Given the description of an element on the screen output the (x, y) to click on. 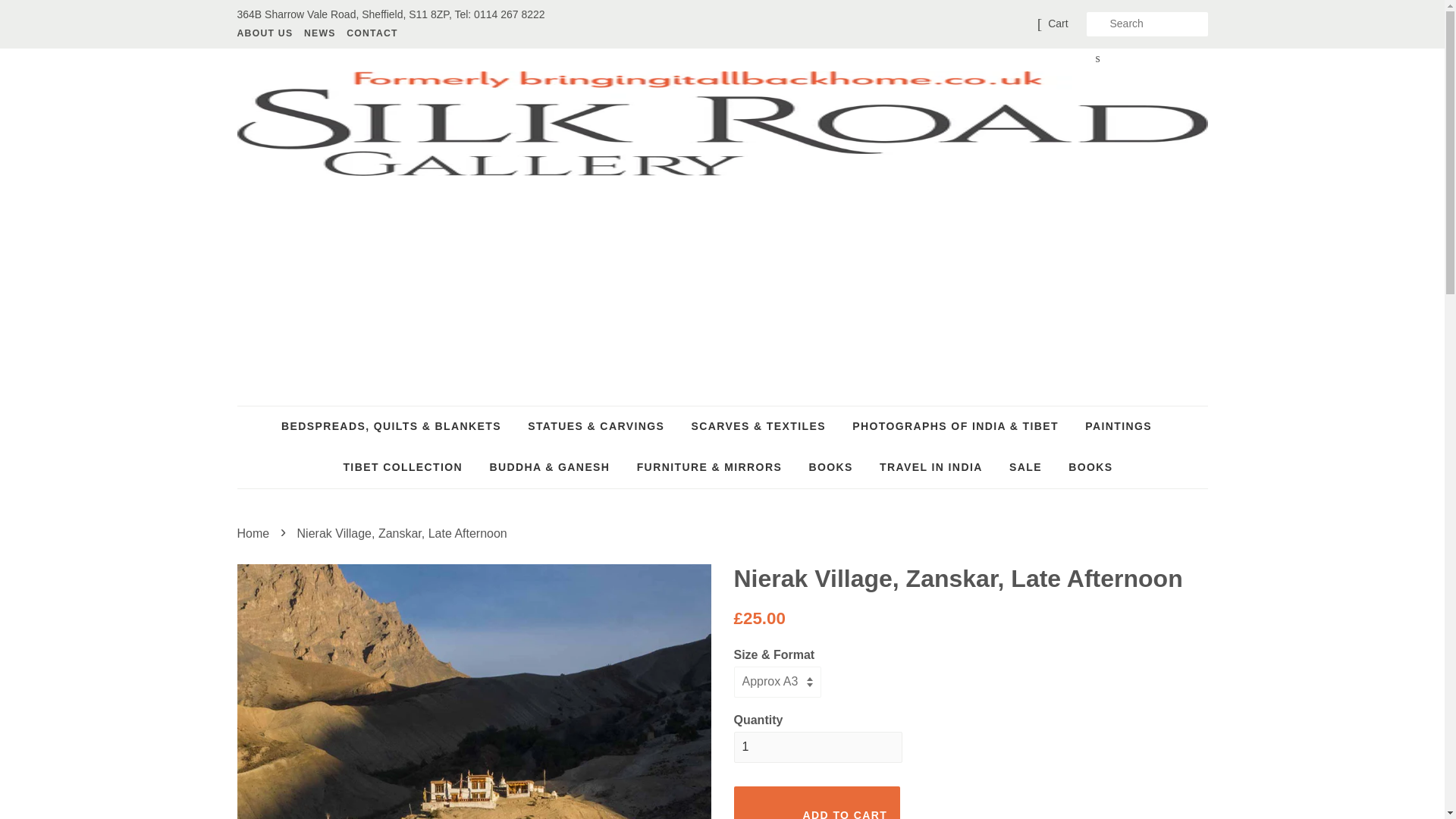
CONTACT (369, 33)
Home (254, 533)
Cart (1057, 24)
TRAVEL IN INDIA (930, 467)
BOOKS (1084, 467)
1 (817, 747)
TIBET COLLECTION (402, 467)
BOOKS (829, 467)
PAINTINGS (1118, 426)
ABOUT US (266, 33)
SALE (1024, 467)
NEWS (319, 33)
Back to the frontpage (254, 533)
